Given the description of an element on the screen output the (x, y) to click on. 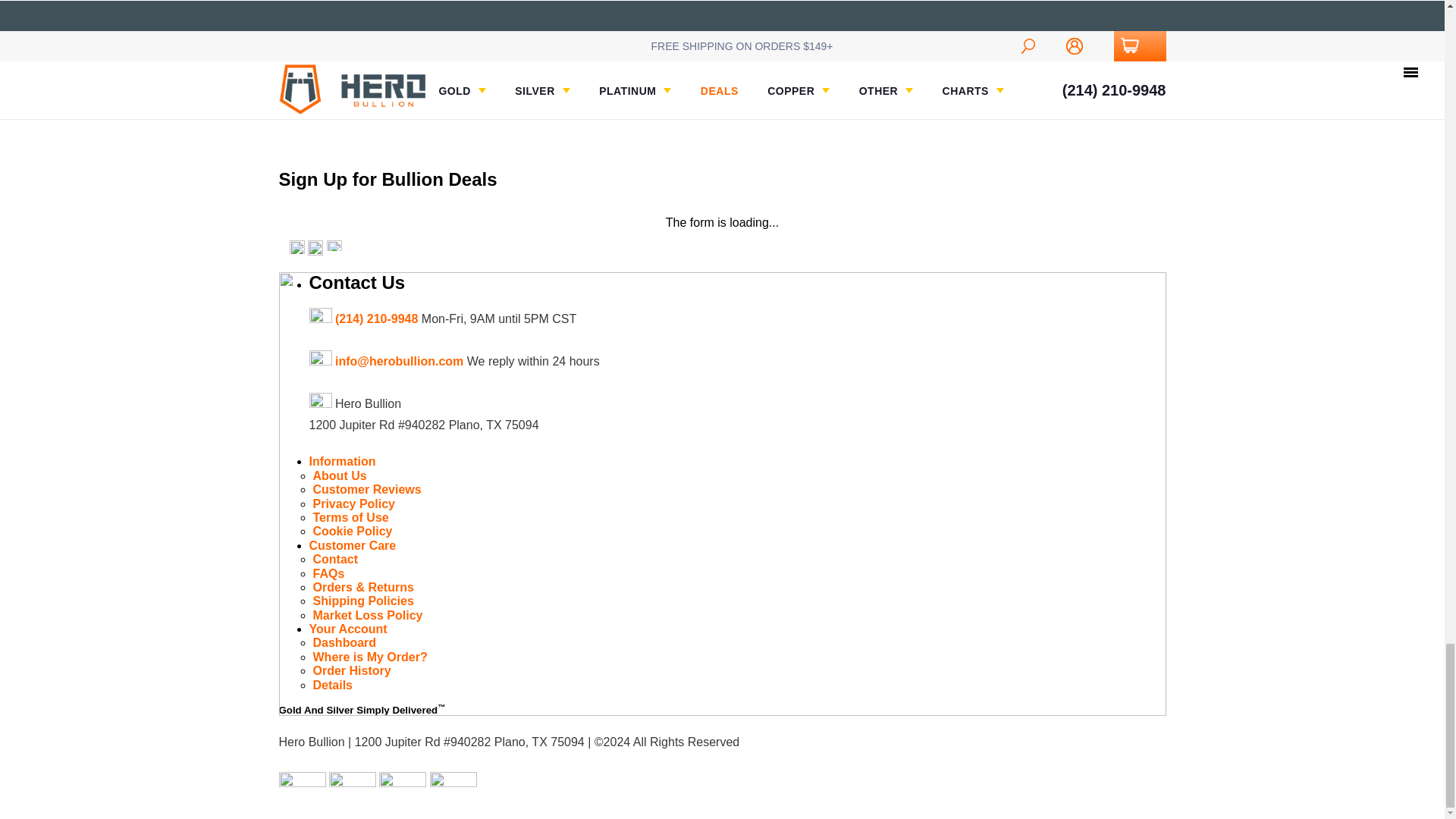
1 (328, 2)
